Given the description of an element on the screen output the (x, y) to click on. 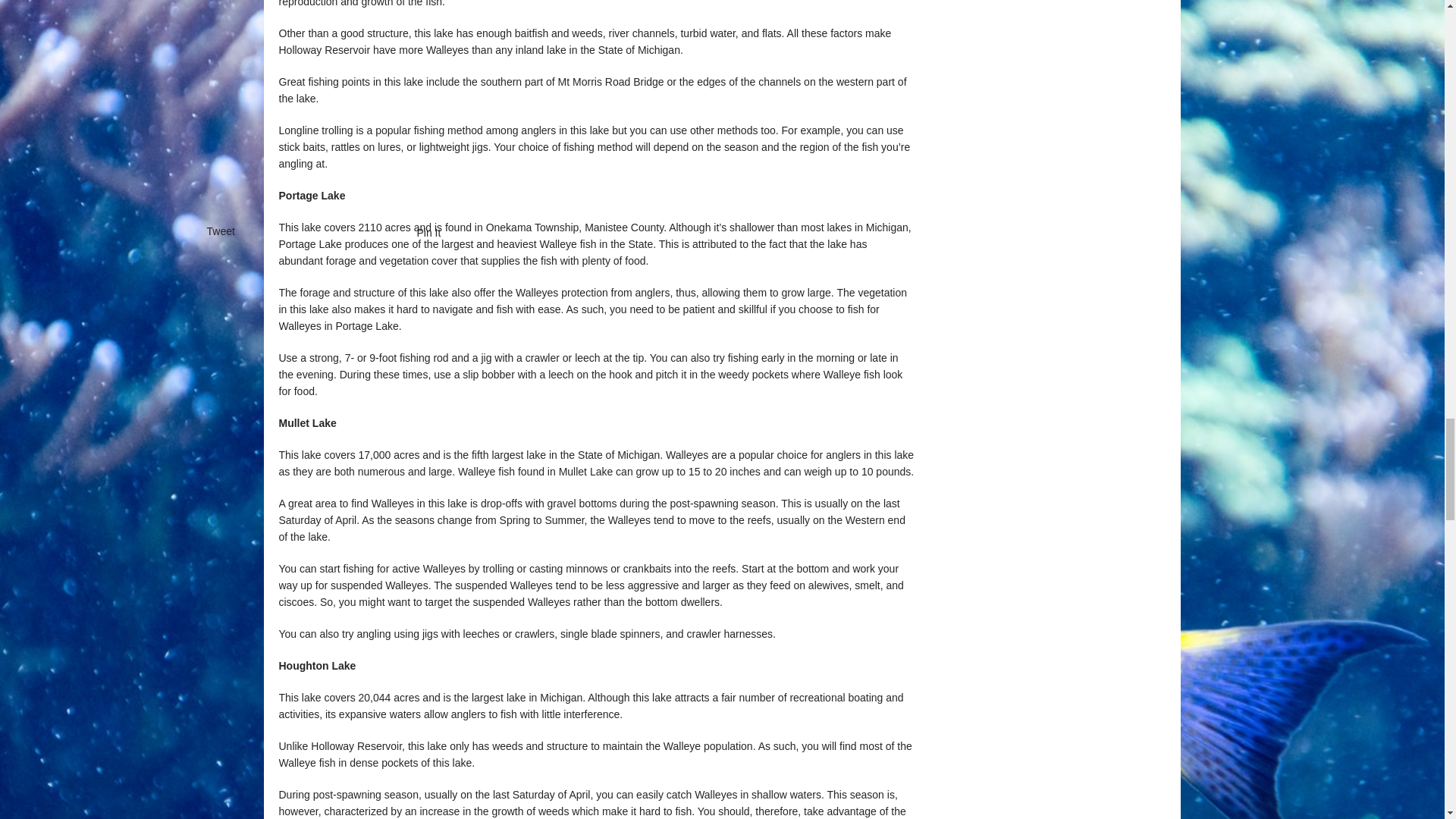
season and the region (777, 146)
